Given the description of an element on the screen output the (x, y) to click on. 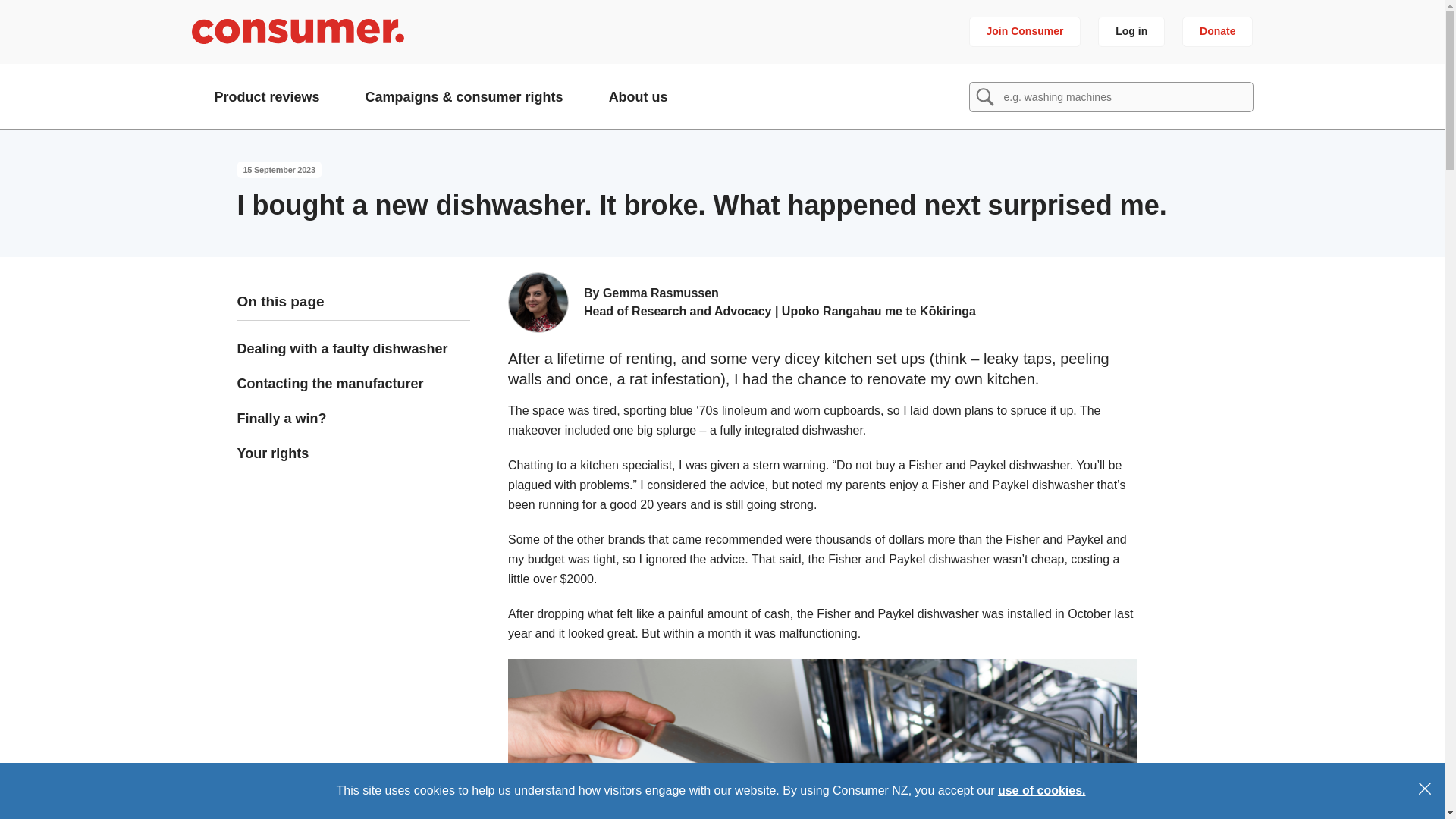
Consumer home (296, 31)
Product reviews (266, 96)
Log in (1130, 31)
Join Consumer (1025, 31)
About us (638, 96)
Donate (1217, 31)
